Given the description of an element on the screen output the (x, y) to click on. 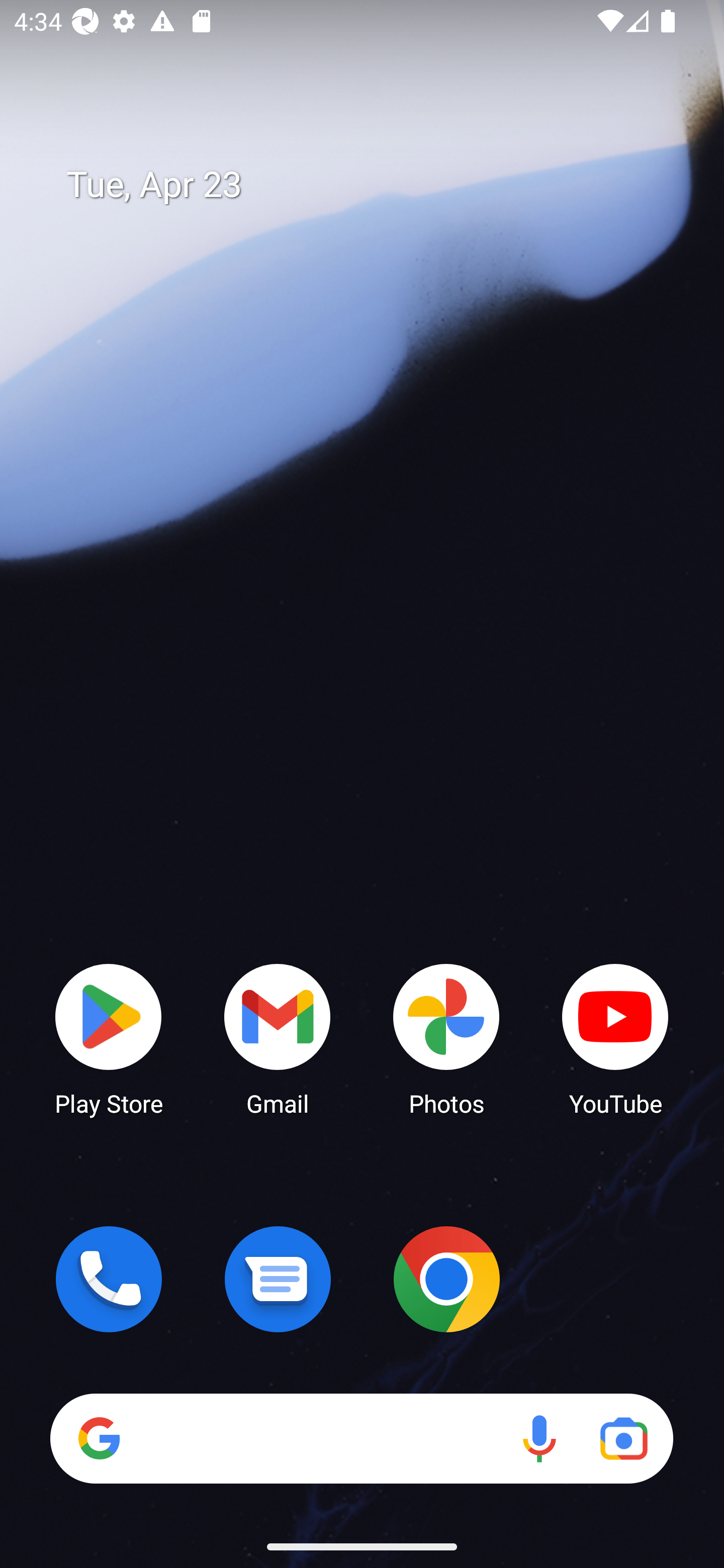
Tue, Apr 23 (375, 184)
Play Store (108, 1038)
Gmail (277, 1038)
Photos (445, 1038)
YouTube (615, 1038)
Phone (108, 1279)
Messages (277, 1279)
Chrome (446, 1279)
Search Voice search Google Lens (361, 1438)
Voice search (539, 1438)
Google Lens (623, 1438)
